Given the description of an element on the screen output the (x, y) to click on. 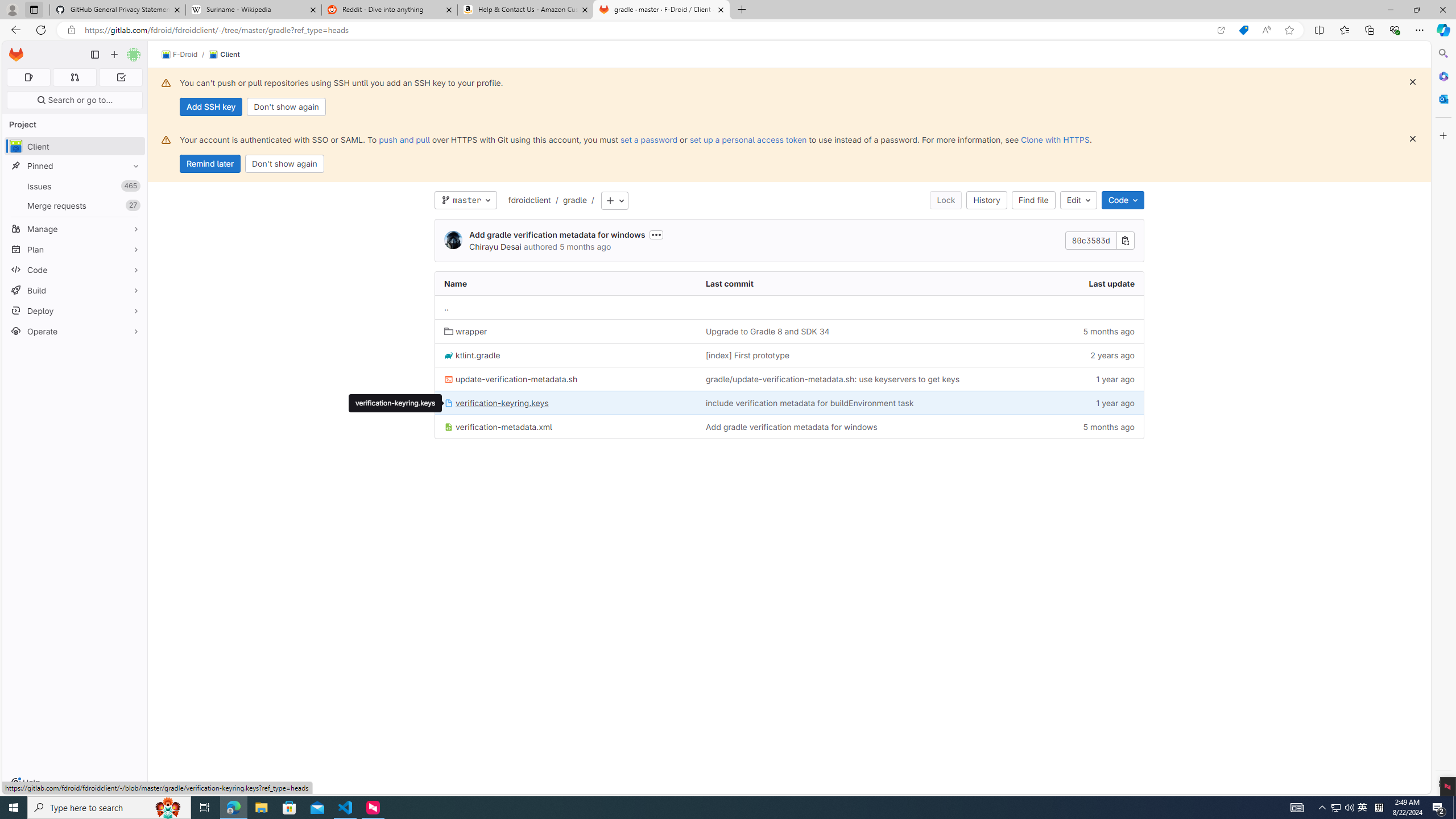
gradle (574, 199)
Create new... (113, 54)
Add gradle verification metadata for windows (790, 426)
Chirayu Desai's avatar (453, 239)
Edit (1078, 199)
ktlint.gradle (472, 354)
Find file (1033, 199)
